Given the description of an element on the screen output the (x, y) to click on. 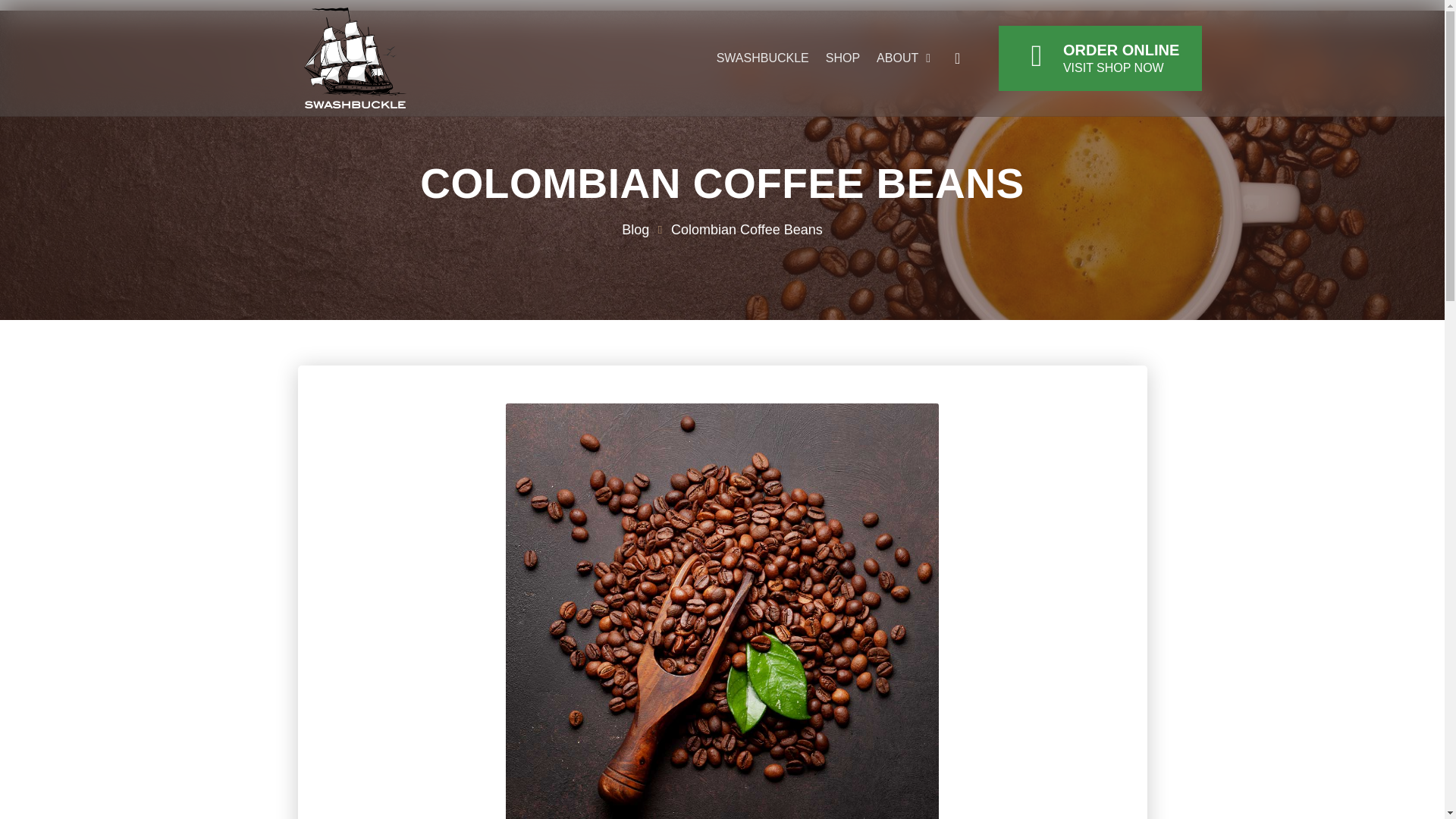
Blog (635, 230)
ORDER ONLINE (1120, 49)
ABOUT (903, 58)
SWASHBUCKLE (762, 58)
SHOP (842, 58)
